Given the description of an element on the screen output the (x, y) to click on. 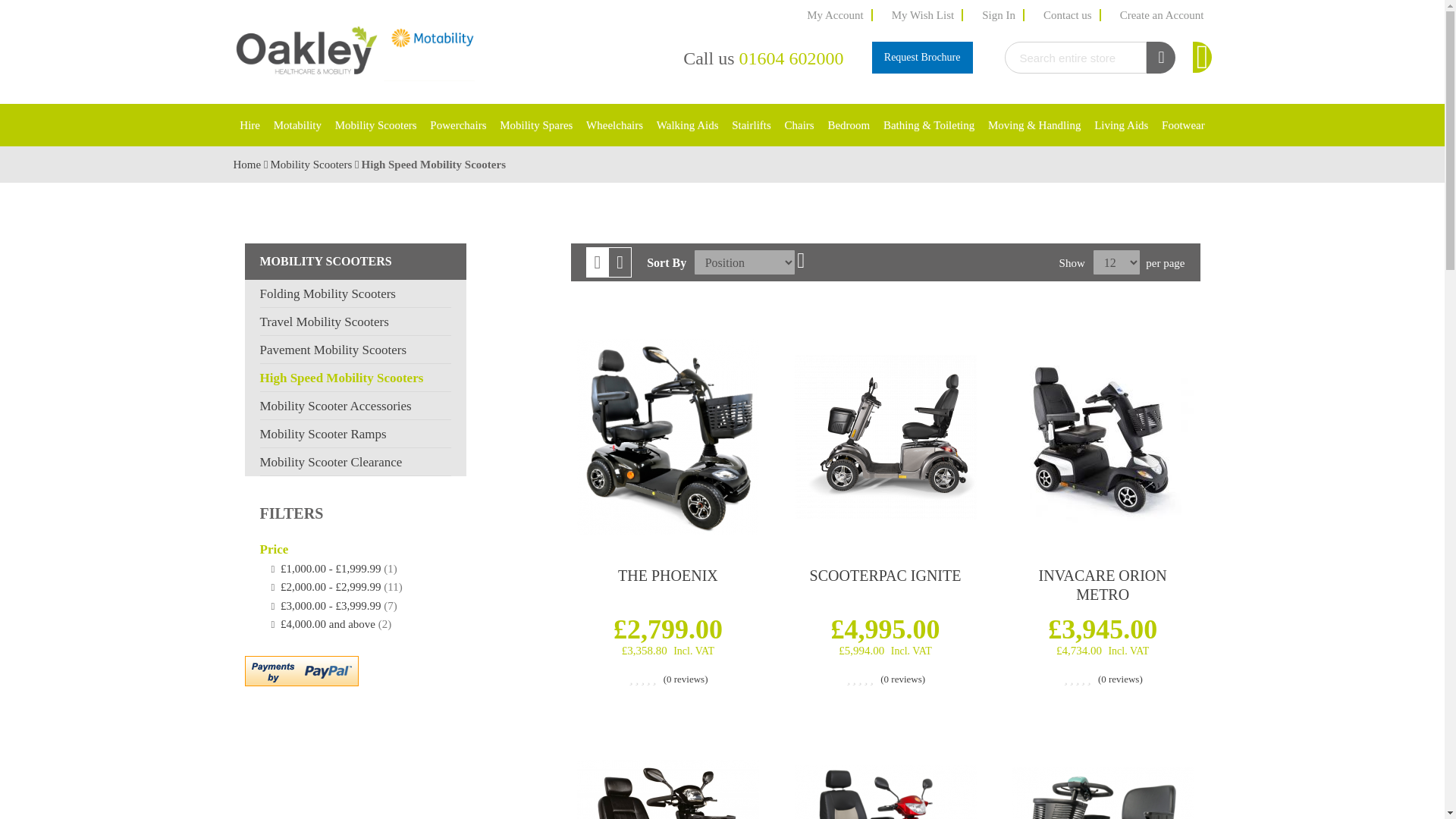
My Wish List (922, 15)
My Account (835, 15)
Powerchairs (458, 125)
Mobility Spares (536, 125)
Go to Home Page (247, 164)
Request Brochure (922, 57)
Create an Account (1161, 15)
Contact us (1067, 15)
Search (1160, 57)
Search (1160, 57)
Sign In (999, 15)
Motability (297, 125)
Mobility Scooters (376, 125)
01604 602000 (790, 57)
